Given the description of an element on the screen output the (x, y) to click on. 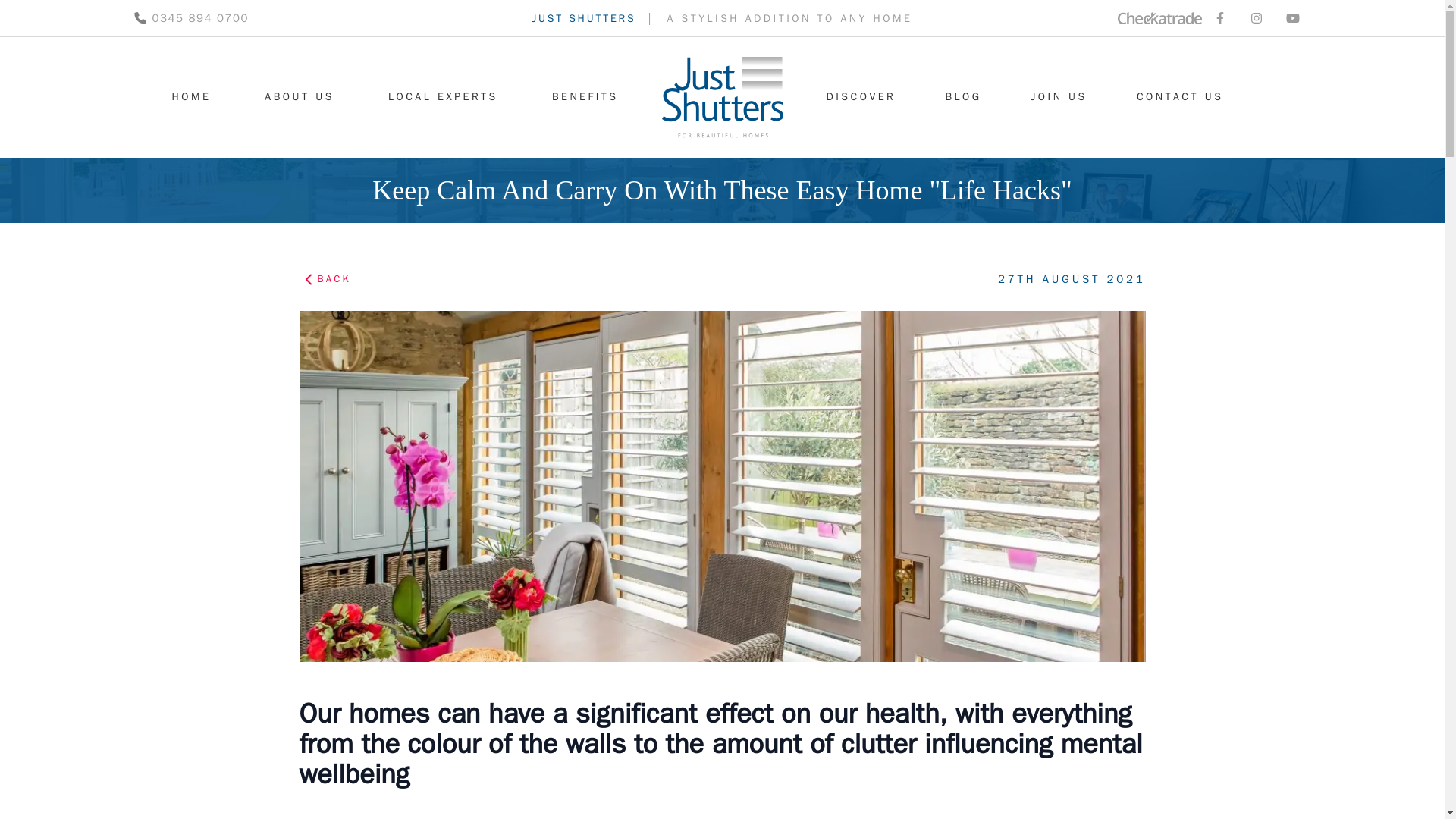
BLOG (962, 97)
CONTACT US (1180, 97)
LOCAL EXPERTS (442, 97)
JOIN US (1058, 97)
JUST SHUTTERS (584, 18)
HOME (191, 97)
BACK (330, 278)
DISCOVER (861, 97)
BENEFITS (584, 97)
ABOUT US (299, 97)
0345 894 0700 (190, 17)
